Given the description of an element on the screen output the (x, y) to click on. 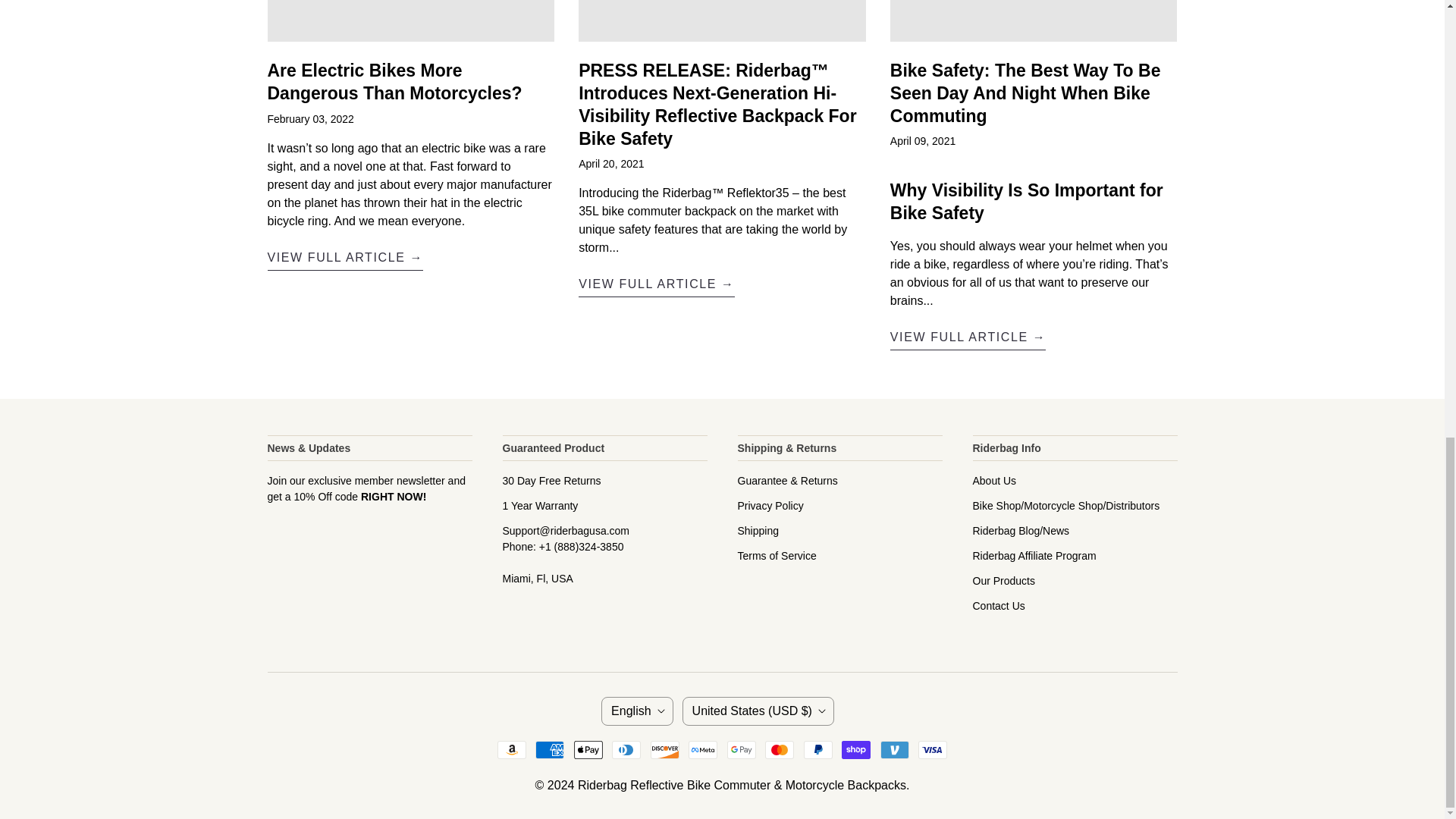
Mastercard (779, 750)
Venmo (894, 750)
Amazon (511, 750)
American Express (549, 750)
Are Electric Bikes More Dangerous Than Motorcycles? (393, 81)
Google Pay (740, 750)
Shop Pay (855, 750)
Meta Pay (702, 750)
Are Electric Bikes More Dangerous Than Motorcycles? (344, 259)
